Given the description of an element on the screen output the (x, y) to click on. 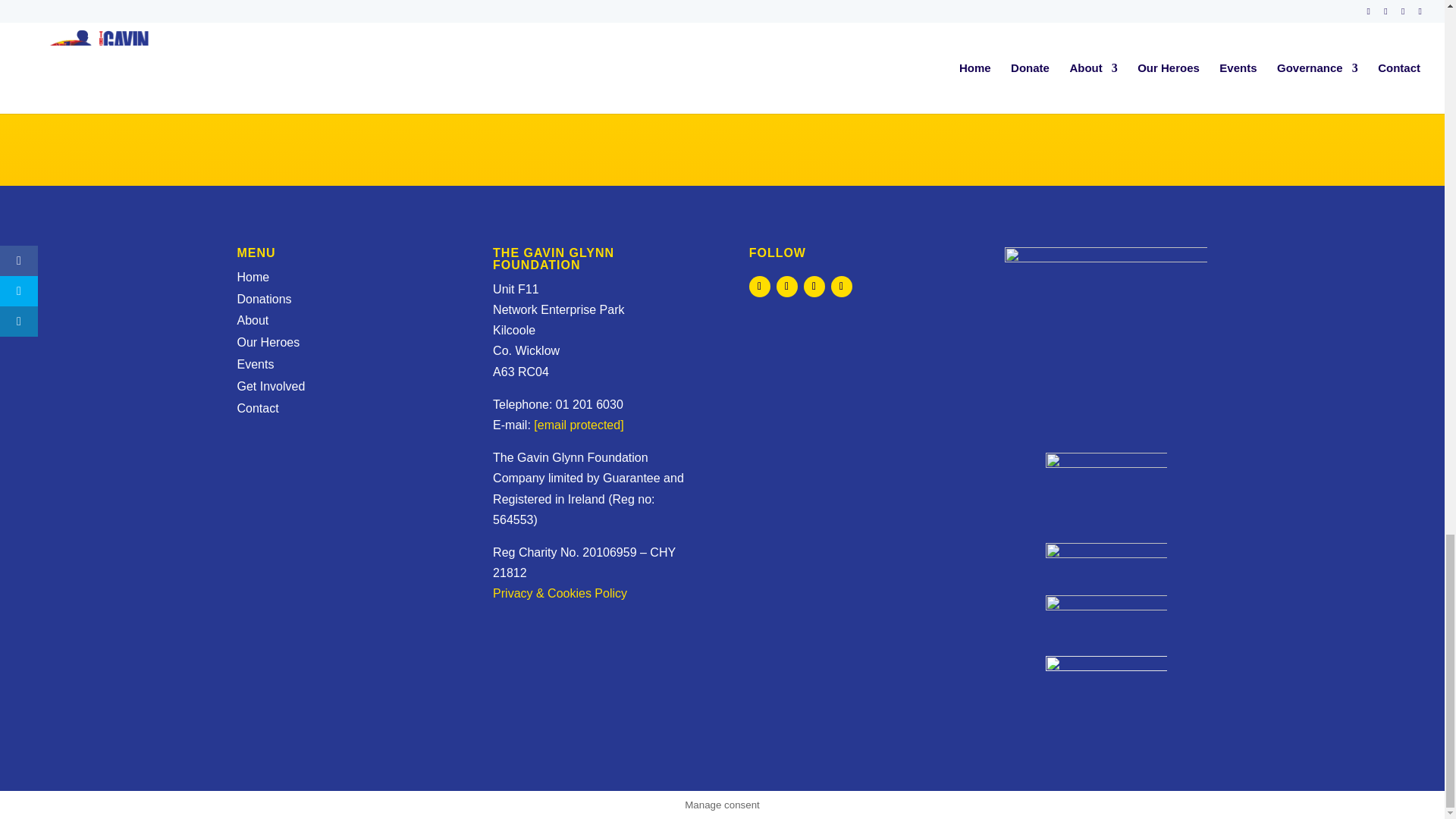
Follow on Facebook (759, 286)
Follow on Instagram (814, 286)
Get Involved (269, 386)
Events (254, 364)
Follow on Vimeo (841, 286)
Our Heroes (267, 341)
Contact (256, 408)
Home (252, 277)
Donations (263, 298)
Follow on X (786, 286)
About (251, 319)
